Given the description of an element on the screen output the (x, y) to click on. 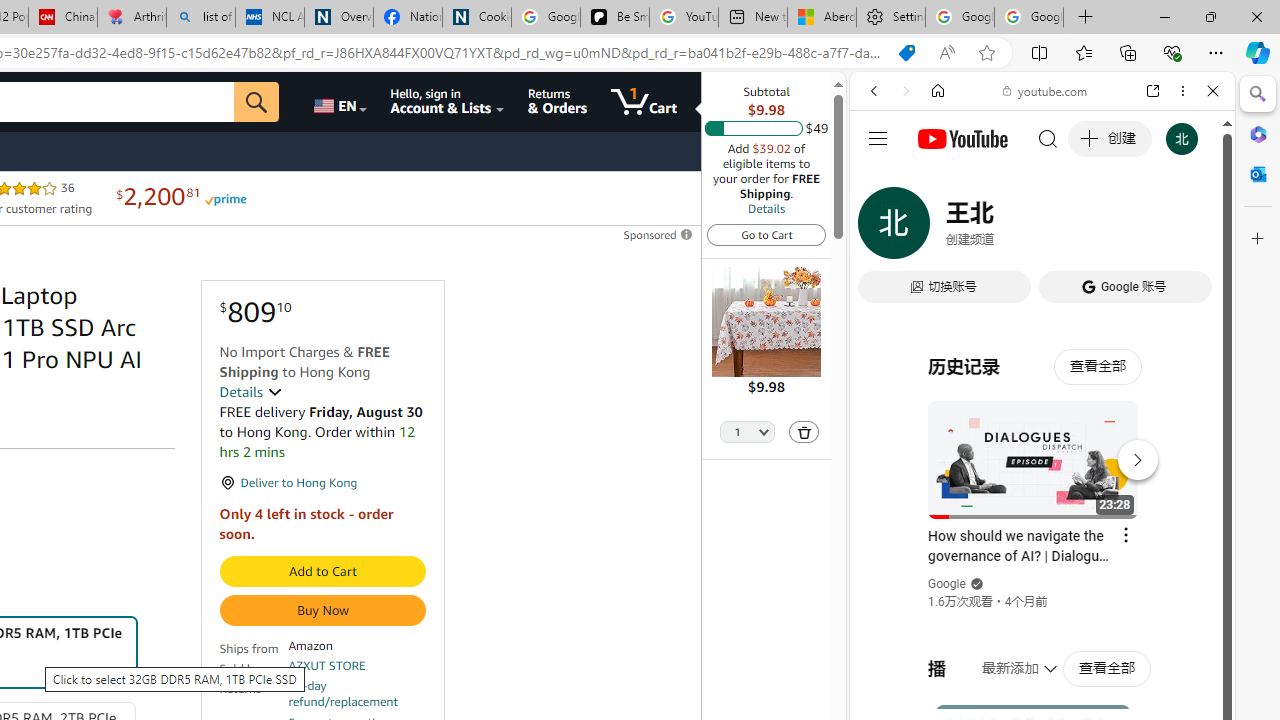
Go (257, 101)
Music (1042, 543)
